Given the description of an element on the screen output the (x, y) to click on. 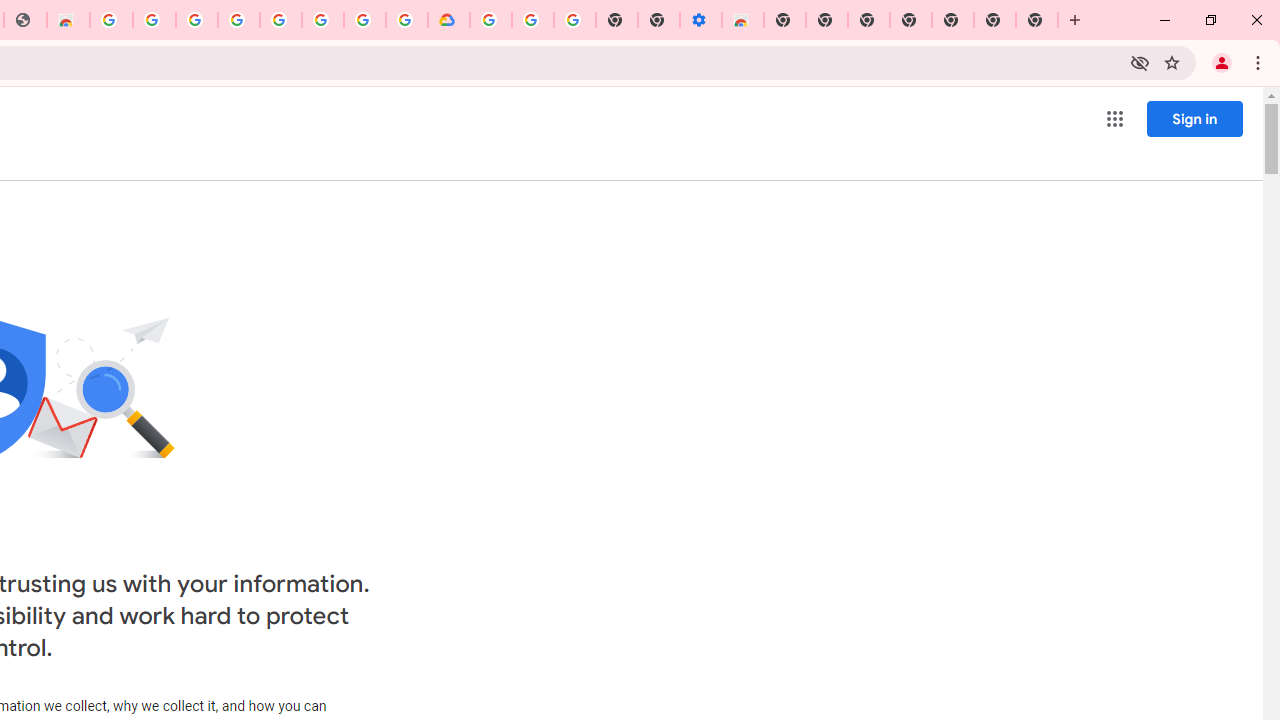
Sign in - Google Accounts (365, 20)
Chrome Web Store - Household (68, 20)
Sign in - Google Accounts (196, 20)
Ad Settings (154, 20)
Sign in - Google Accounts (490, 20)
